Given the description of an element on the screen output the (x, y) to click on. 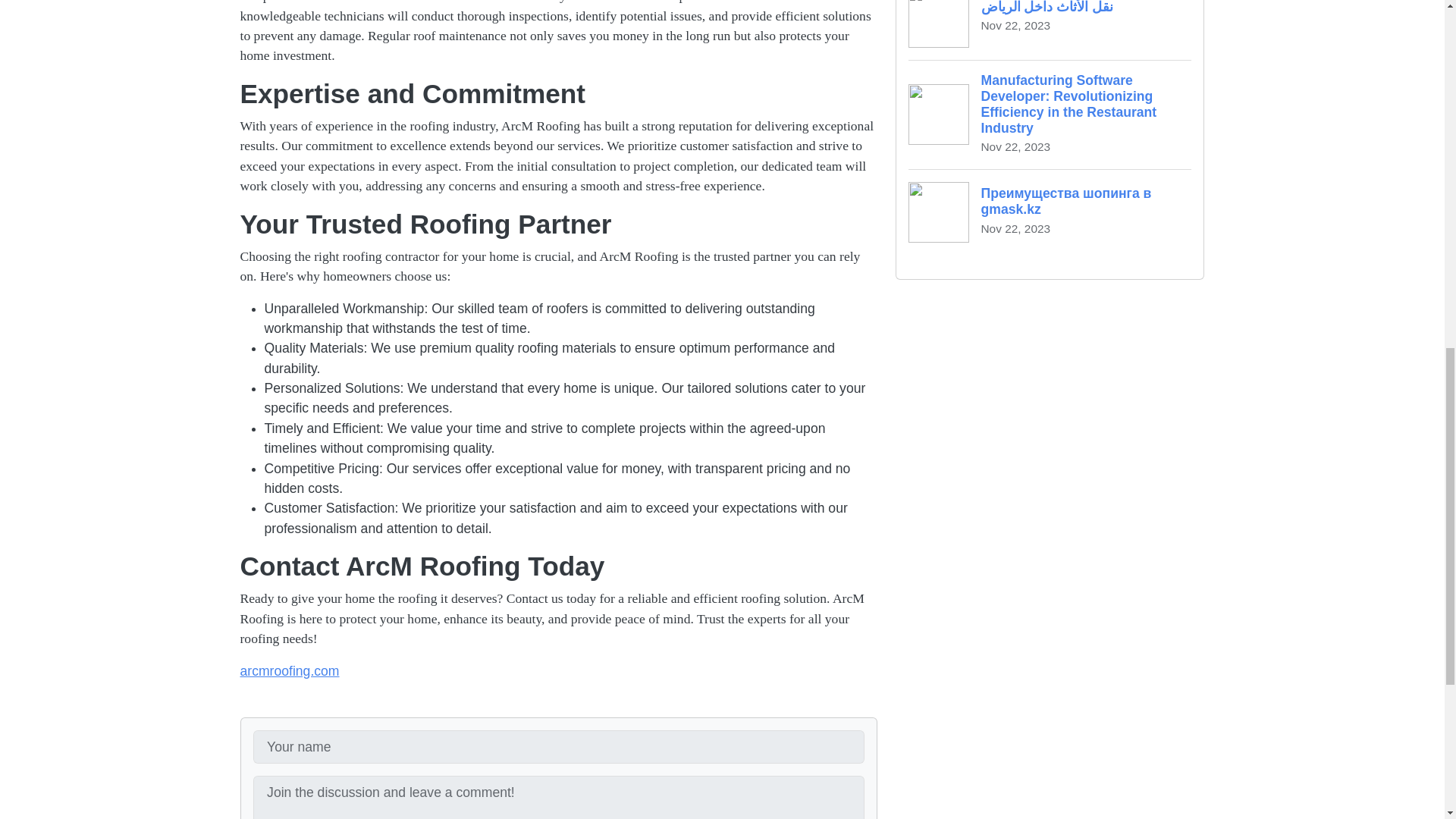
arcmroofing.com (289, 670)
